Given the description of an element on the screen output the (x, y) to click on. 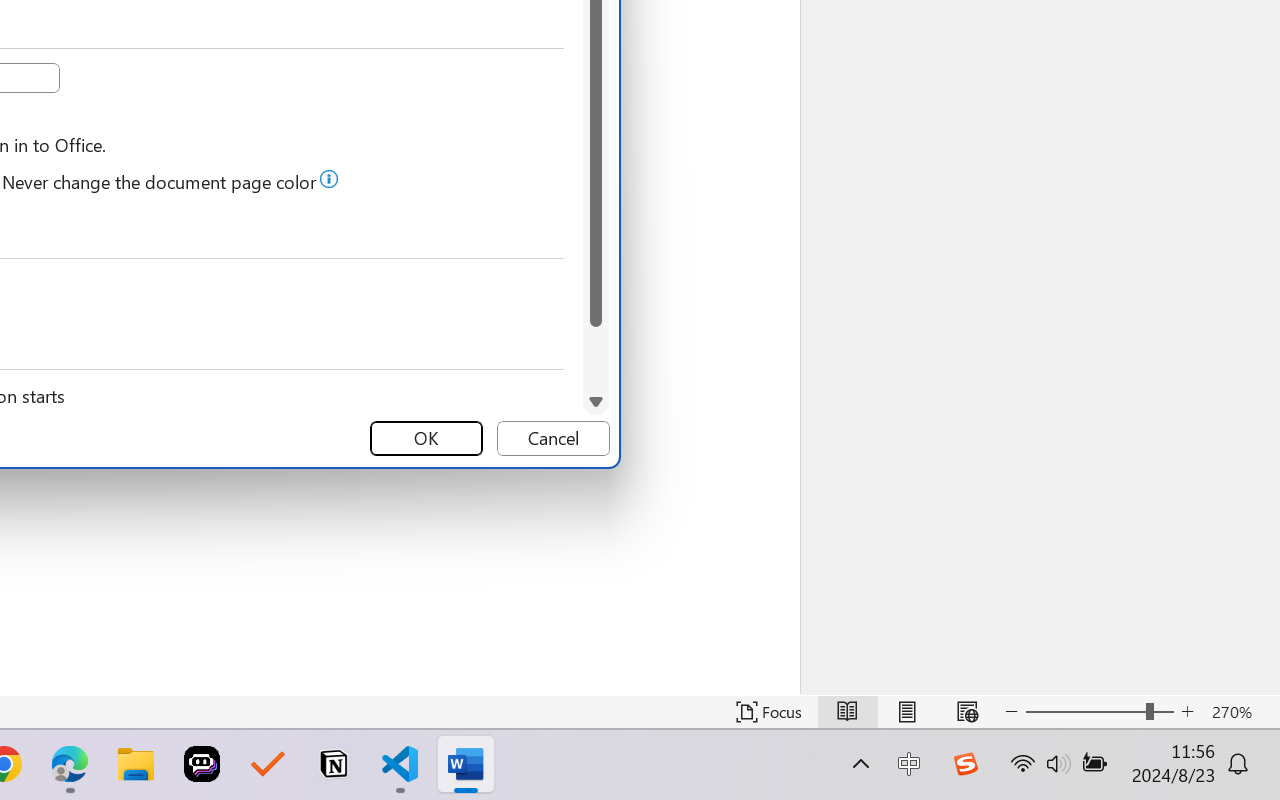
Decrease Text Size (1011, 712)
Line down (595, 401)
Text Size (1100, 712)
OK (425, 437)
